Given the description of an element on the screen output the (x, y) to click on. 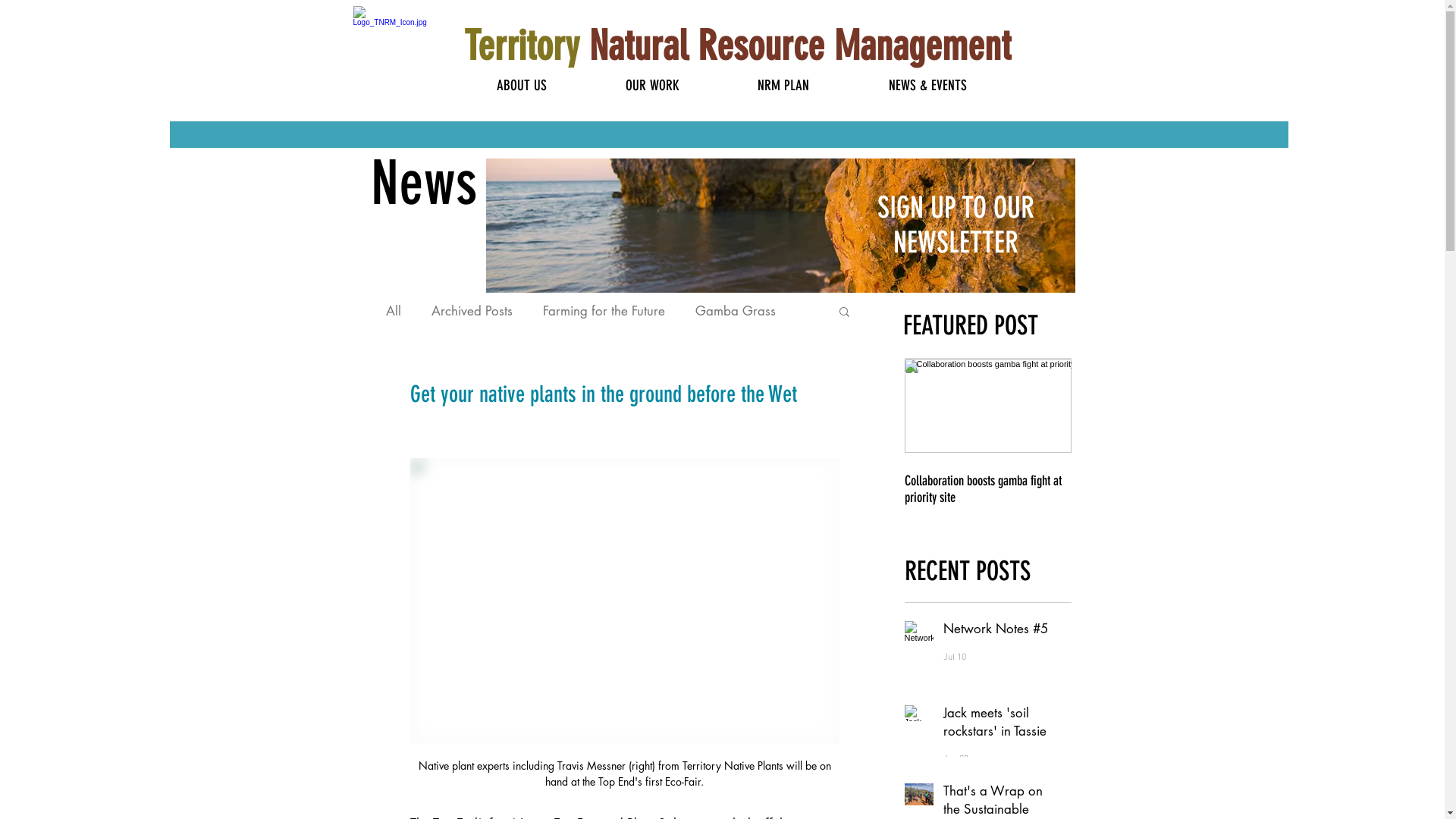
OUR WORK Element type: text (651, 85)
All Element type: text (392, 310)
Territory Natural Resource Management Element type: text (737, 45)
SIGN UP TO OUR NEWSLETTER Element type: text (955, 225)
Archived Posts Element type: text (470, 310)
NEWS & EVENTS Element type: text (928, 85)
NRM PLAN Element type: text (783, 85)
Collaboration boosts gamba fight at priority site Element type: text (986, 488)
Jack meets 'soil rockstars' in Tassie Element type: text (997, 725)
Gamba Grass Element type: text (734, 310)
Farming for the Future Element type: text (603, 310)
ABOUT US Element type: text (521, 85)
Network Notes #5 Element type: text (997, 632)
